Given the description of an element on the screen output the (x, y) to click on. 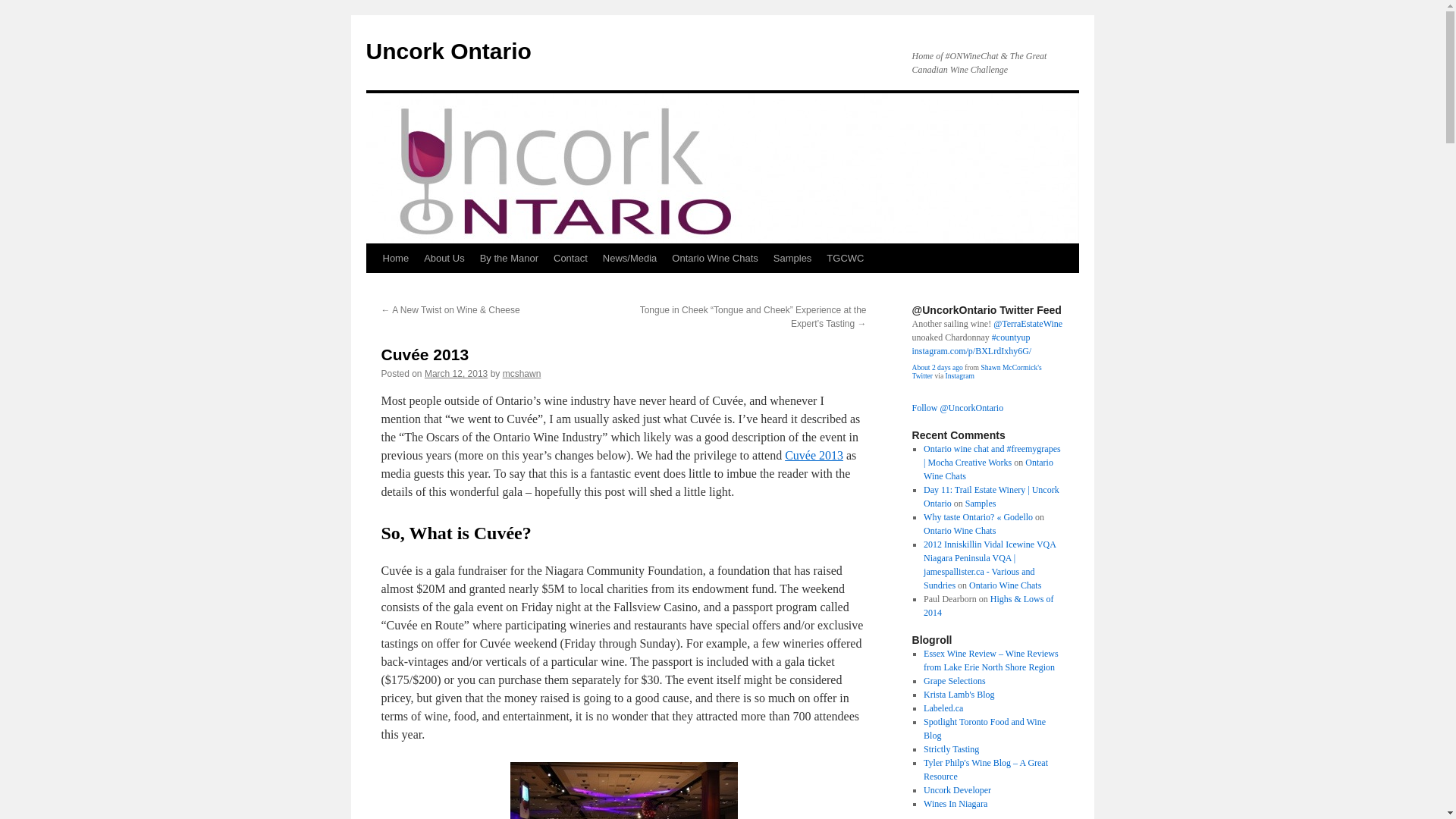
Samples (792, 258)
By the Manor (508, 258)
Uncork Ontario (448, 50)
mcshawn (521, 373)
View all posts by mcshawn (521, 373)
Cuvee 2013 (813, 454)
About Us (443, 258)
9:12 pm (456, 373)
Shawn McCormick (976, 371)
TGCWC (844, 258)
